Given the description of an element on the screen output the (x, y) to click on. 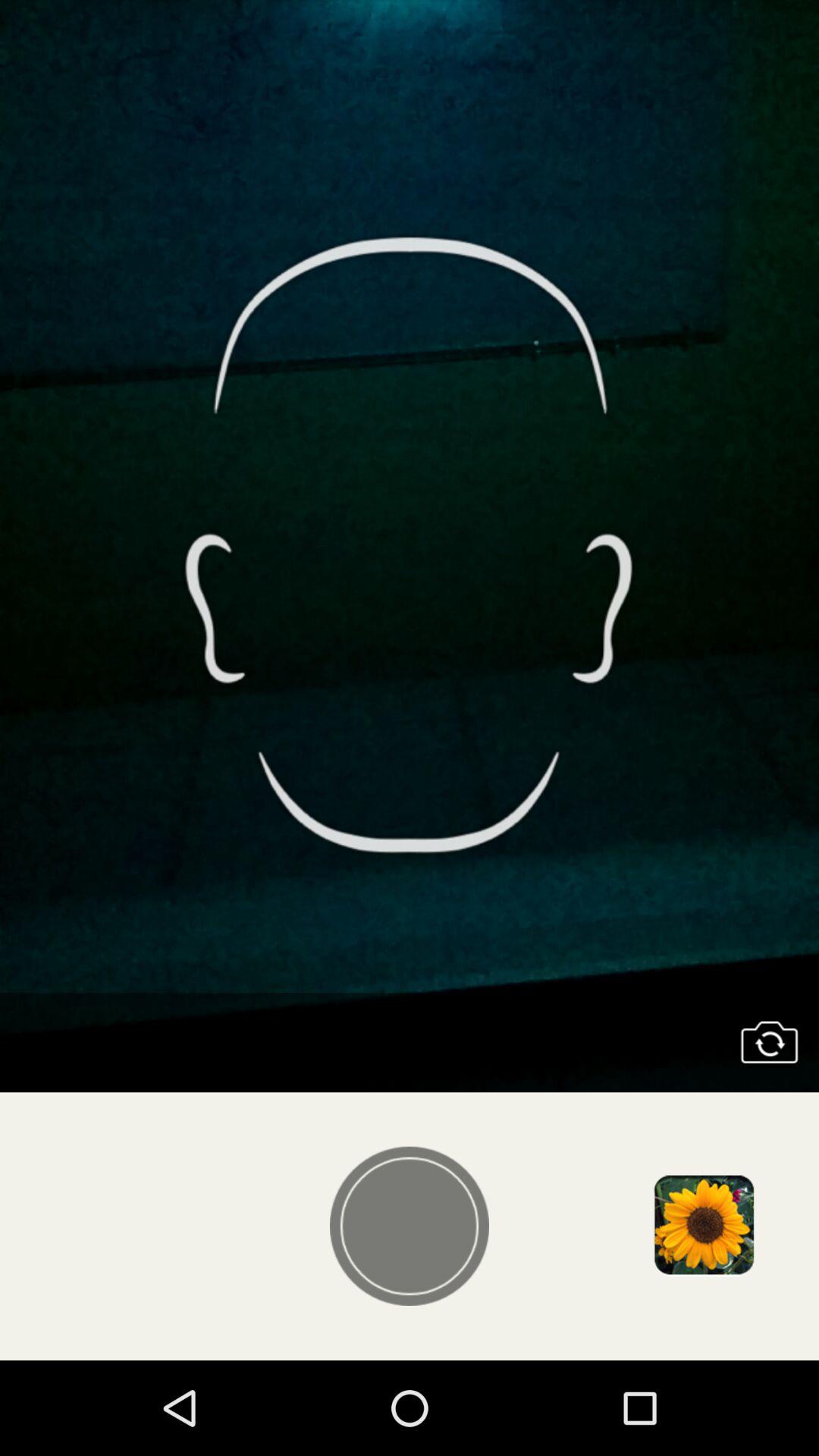
take picture (409, 1225)
